Given the description of an element on the screen output the (x, y) to click on. 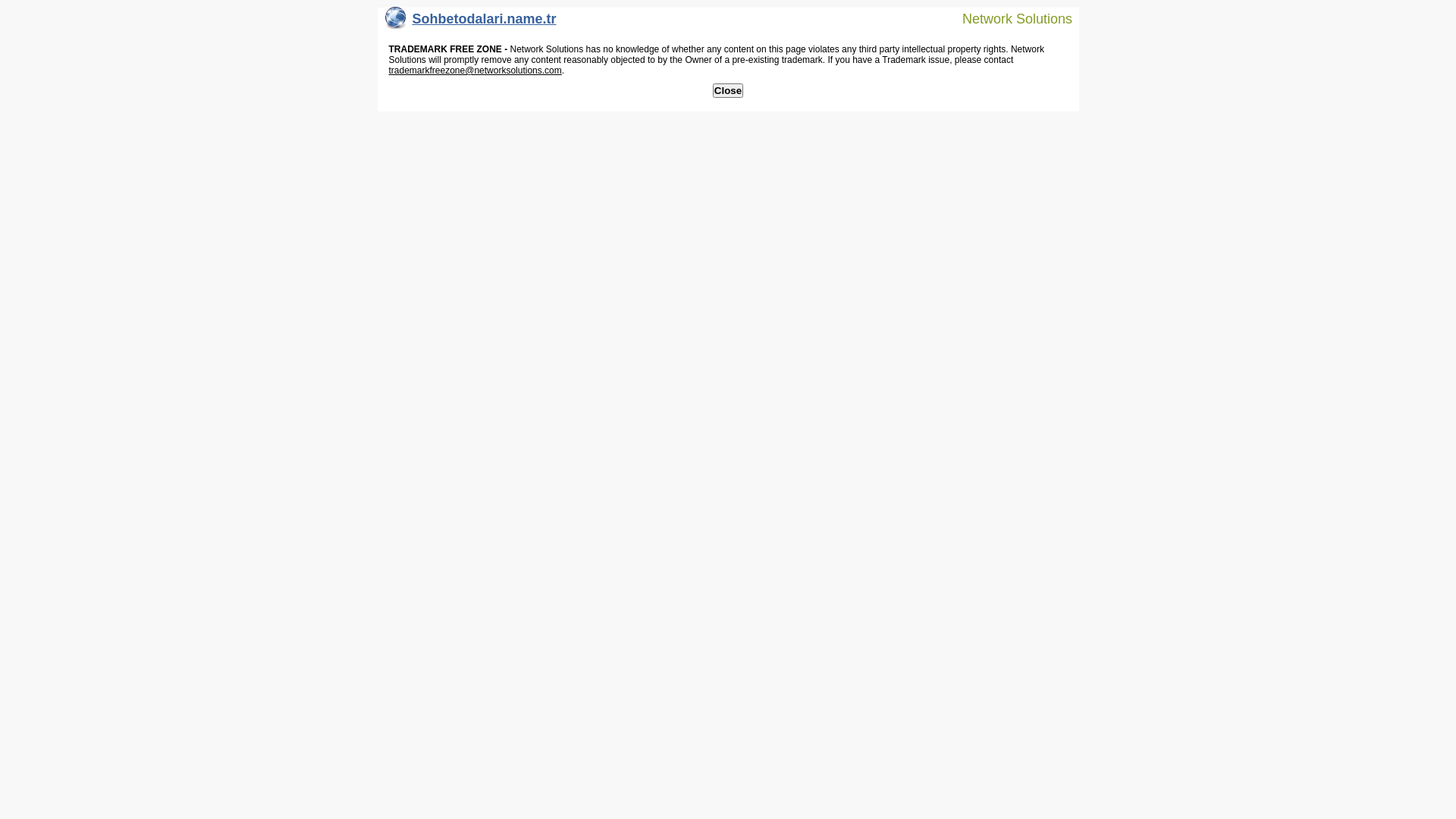
Sohbetodalari.name.tr Element type: text (470, 21)
Close Element type: text (727, 90)
trademarkfreezone@networksolutions.com Element type: text (474, 70)
Network Solutions Element type: text (1007, 17)
